Given the description of an element on the screen output the (x, y) to click on. 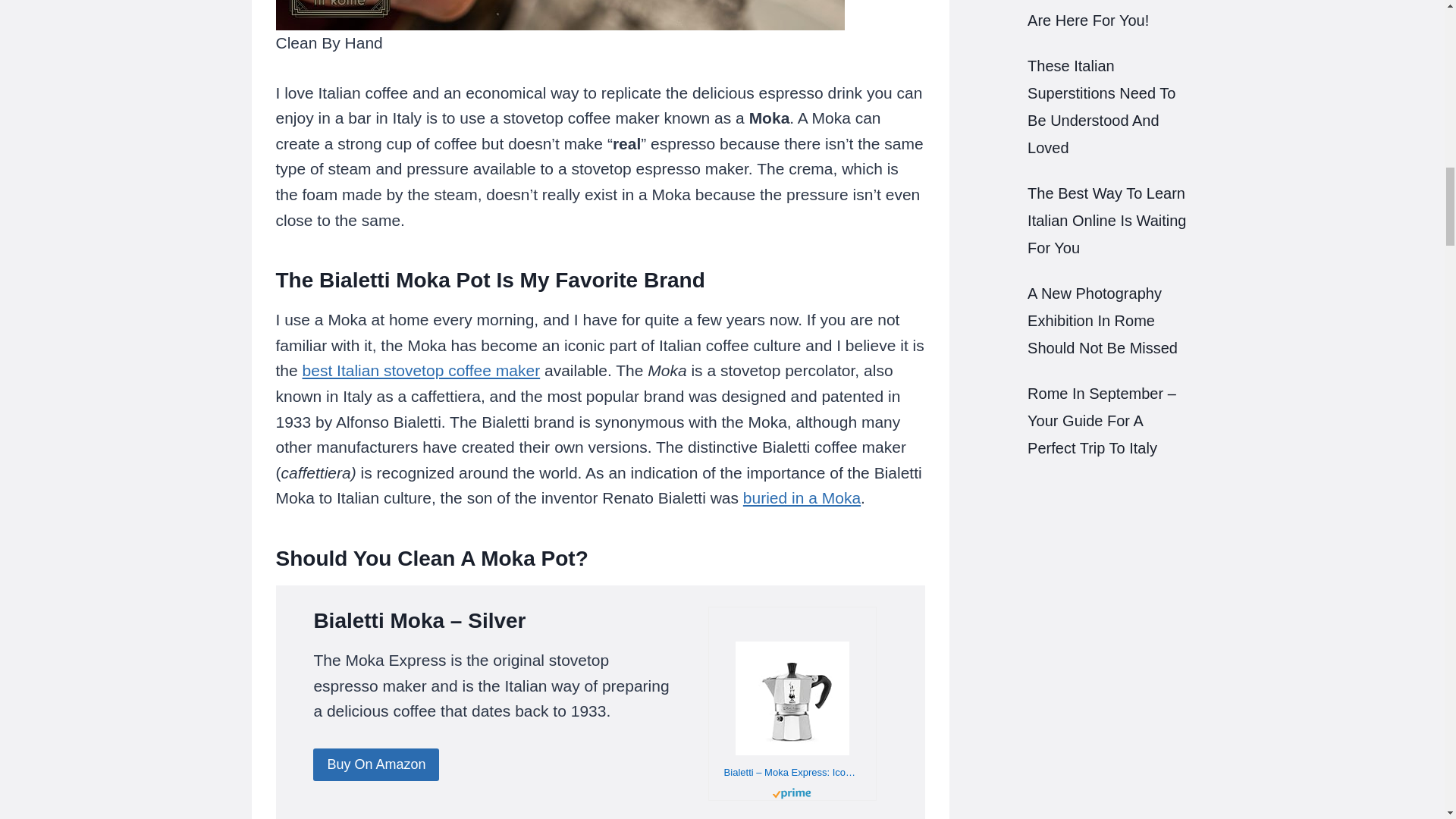
Buy On Amazon (376, 764)
buried in a Moka (801, 497)
best Italian stovetop coffee maker (421, 370)
